Given the description of an element on the screen output the (x, y) to click on. 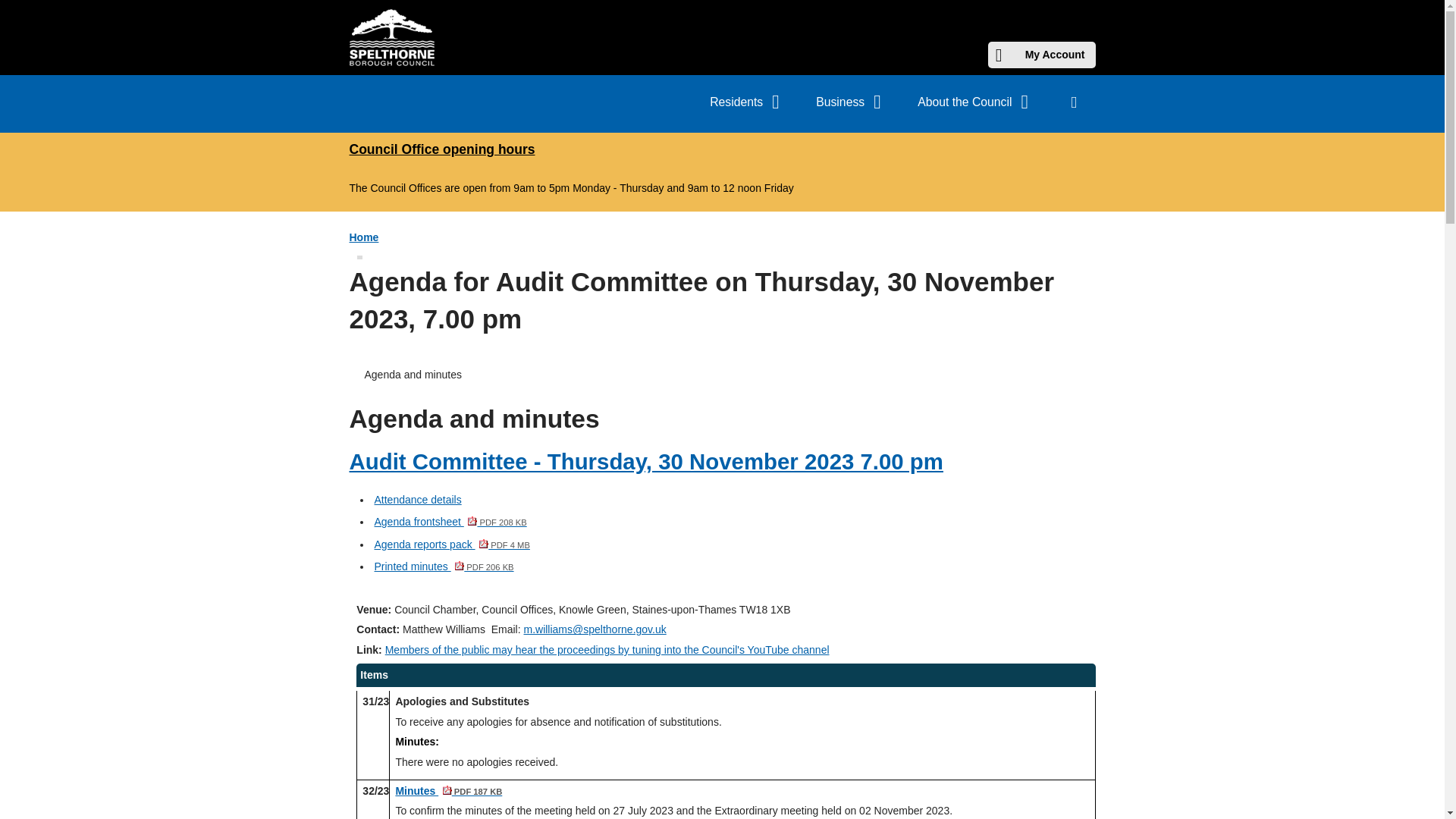
Residents (391, 37)
Link to Audit Committee (747, 102)
Business (645, 461)
Search (851, 102)
Link to agenda reports  document pack pdf file (1074, 105)
Link to agenda frontsheet pdf file (451, 544)
My Account (450, 521)
